Given the description of an element on the screen output the (x, y) to click on. 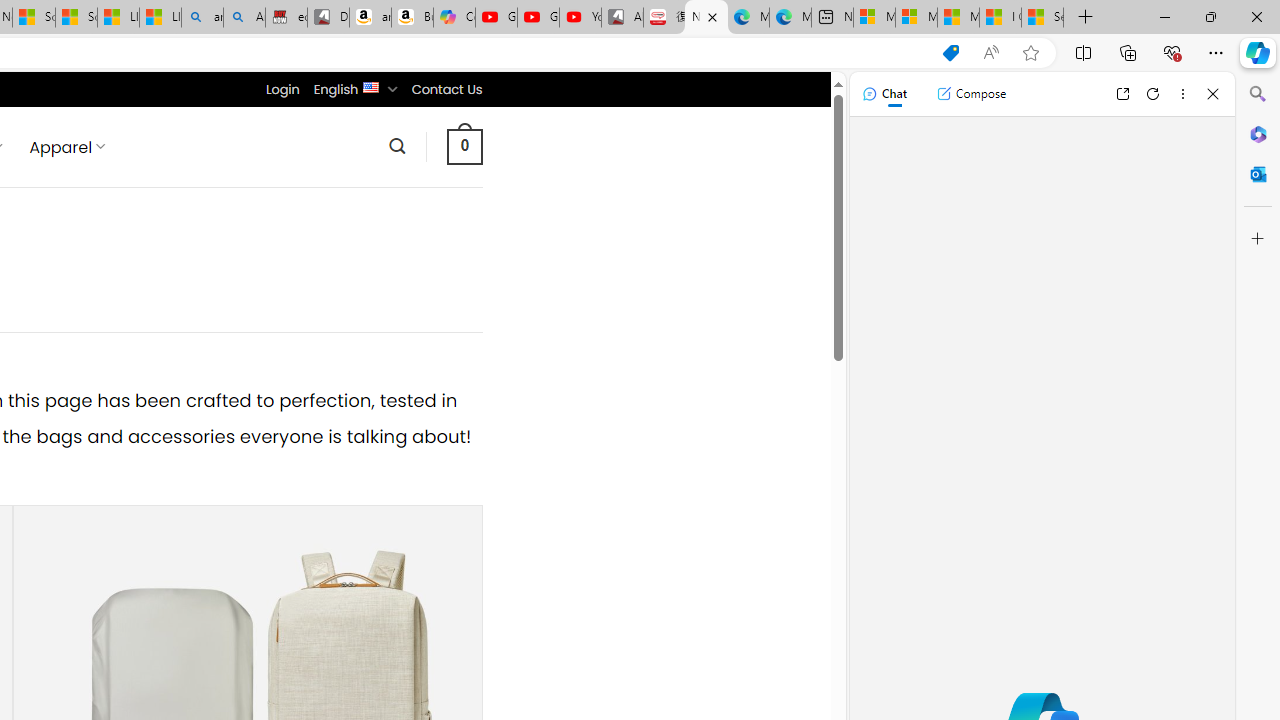
English (371, 86)
Chat (884, 93)
